Given the description of an element on the screen output the (x, y) to click on. 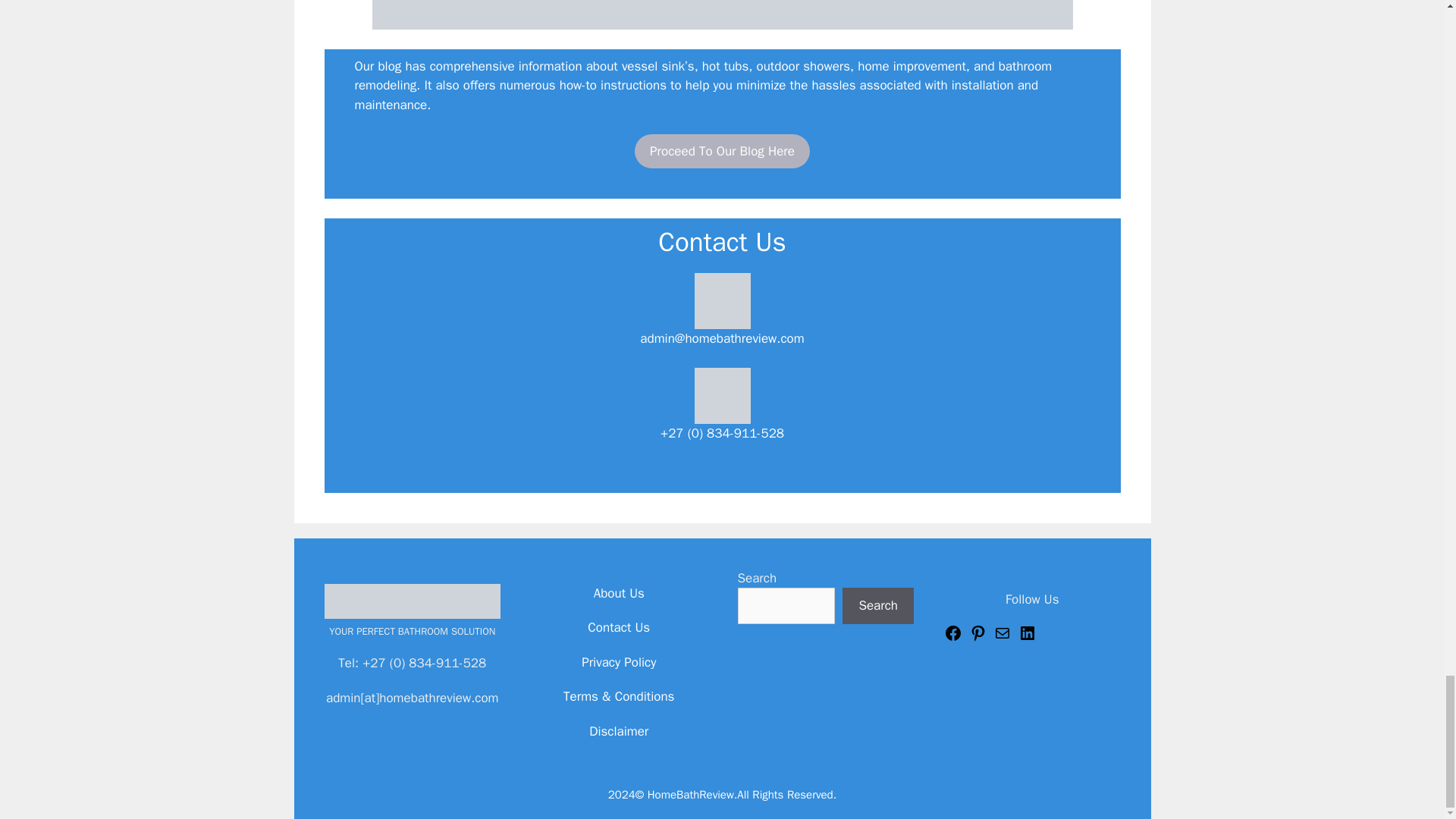
Search (878, 606)
Facebook (952, 637)
Privacy Policy (618, 662)
Pinterest (978, 637)
Mail (1001, 637)
LinkedIn (1026, 637)
Contact Us (618, 627)
About Us (619, 593)
Proceed To Our Blog Here (721, 151)
Disclaimer (618, 731)
